Given the description of an element on the screen output the (x, y) to click on. 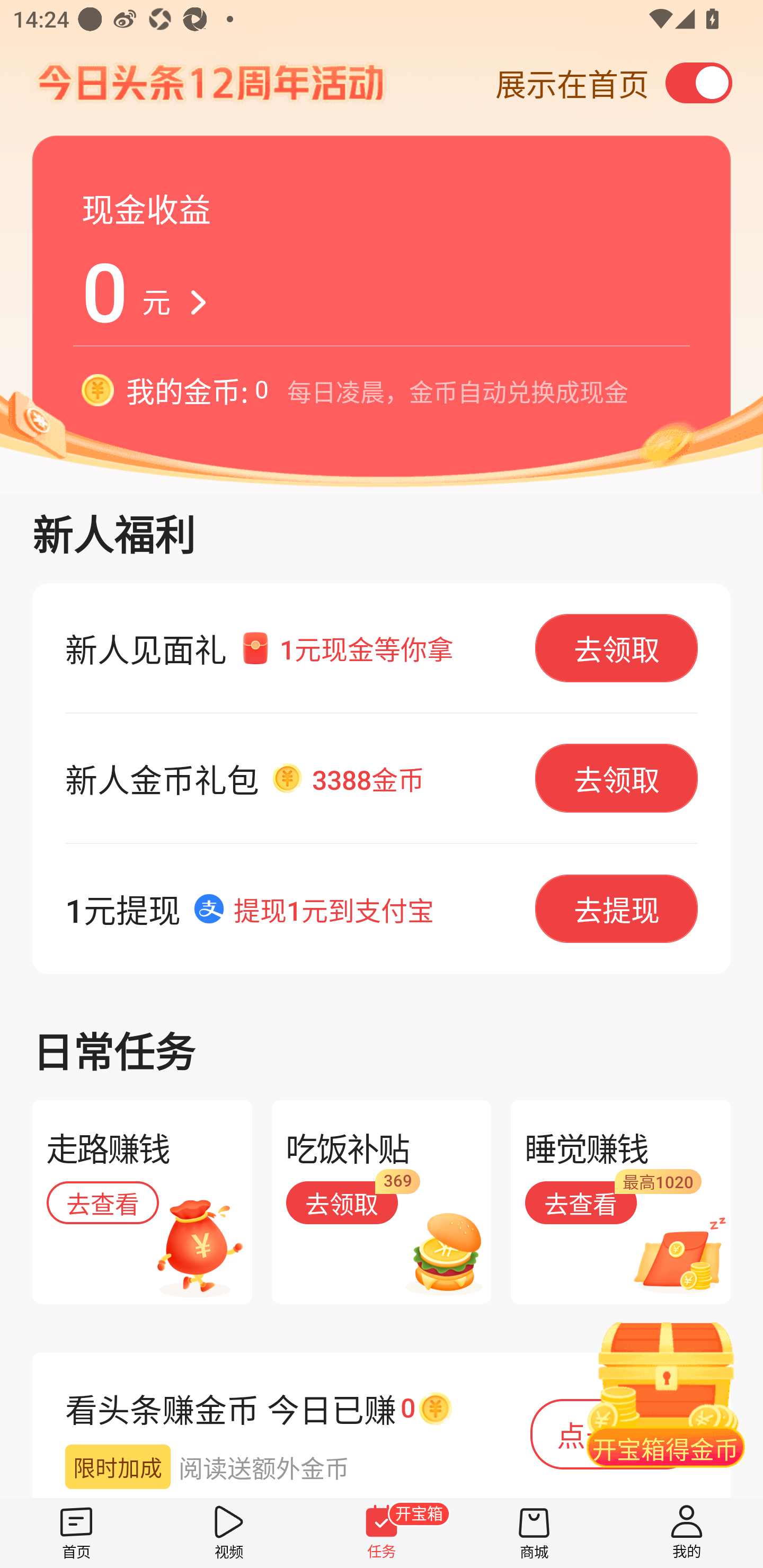
首页 (76, 1532)
视频 (228, 1532)
任务 开宝箱 (381, 1532)
商城 (533, 1532)
我的 (686, 1532)
